Given the description of an element on the screen output the (x, y) to click on. 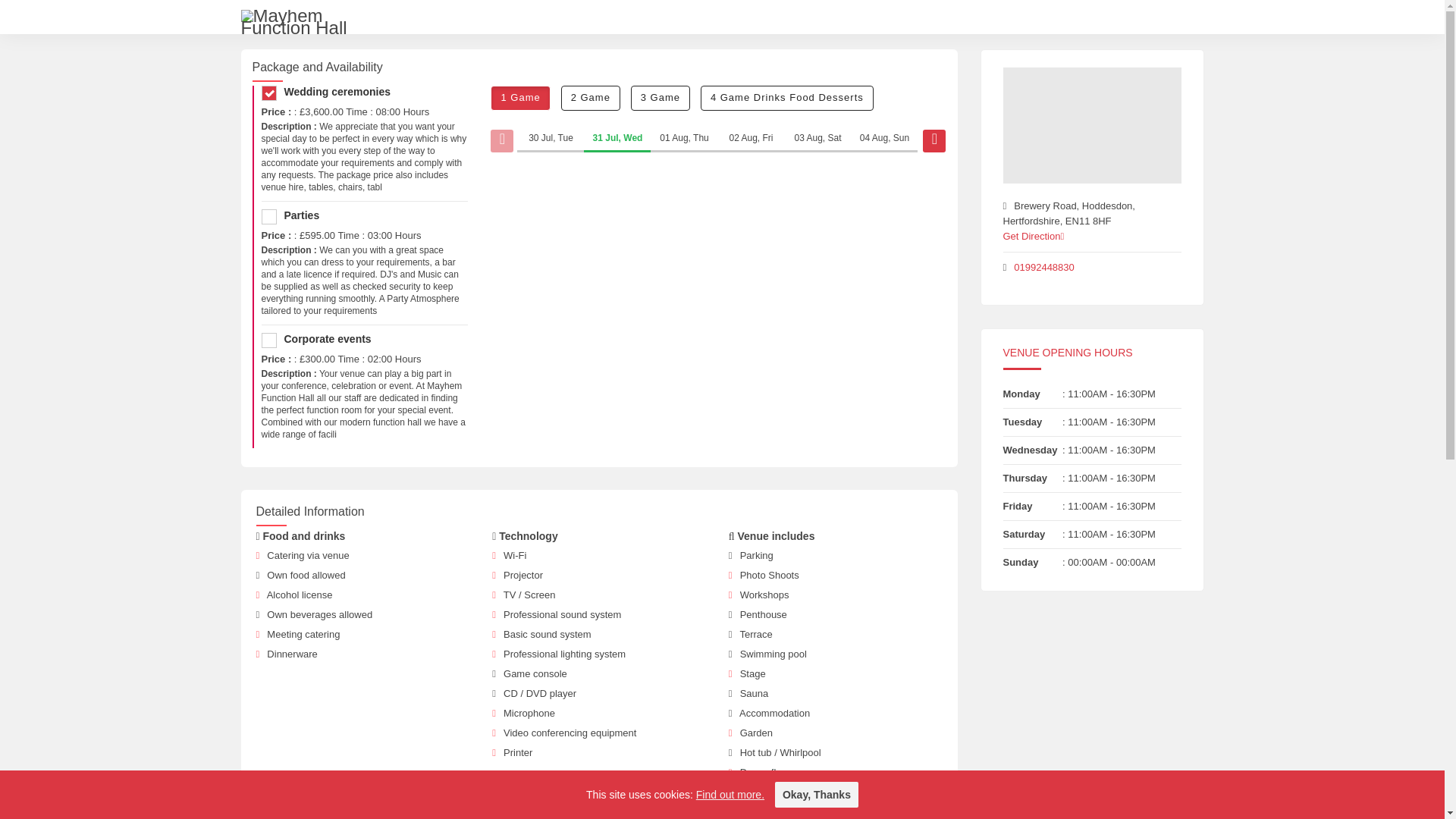
1 Game (520, 97)
01992448830 (1043, 266)
2 Game (590, 97)
3 Game (660, 97)
Get Direction (1037, 235)
Find out more. (729, 794)
Okay, Thanks (816, 794)
4 Game Drinks Food Desserts (786, 97)
